Given the description of an element on the screen output the (x, y) to click on. 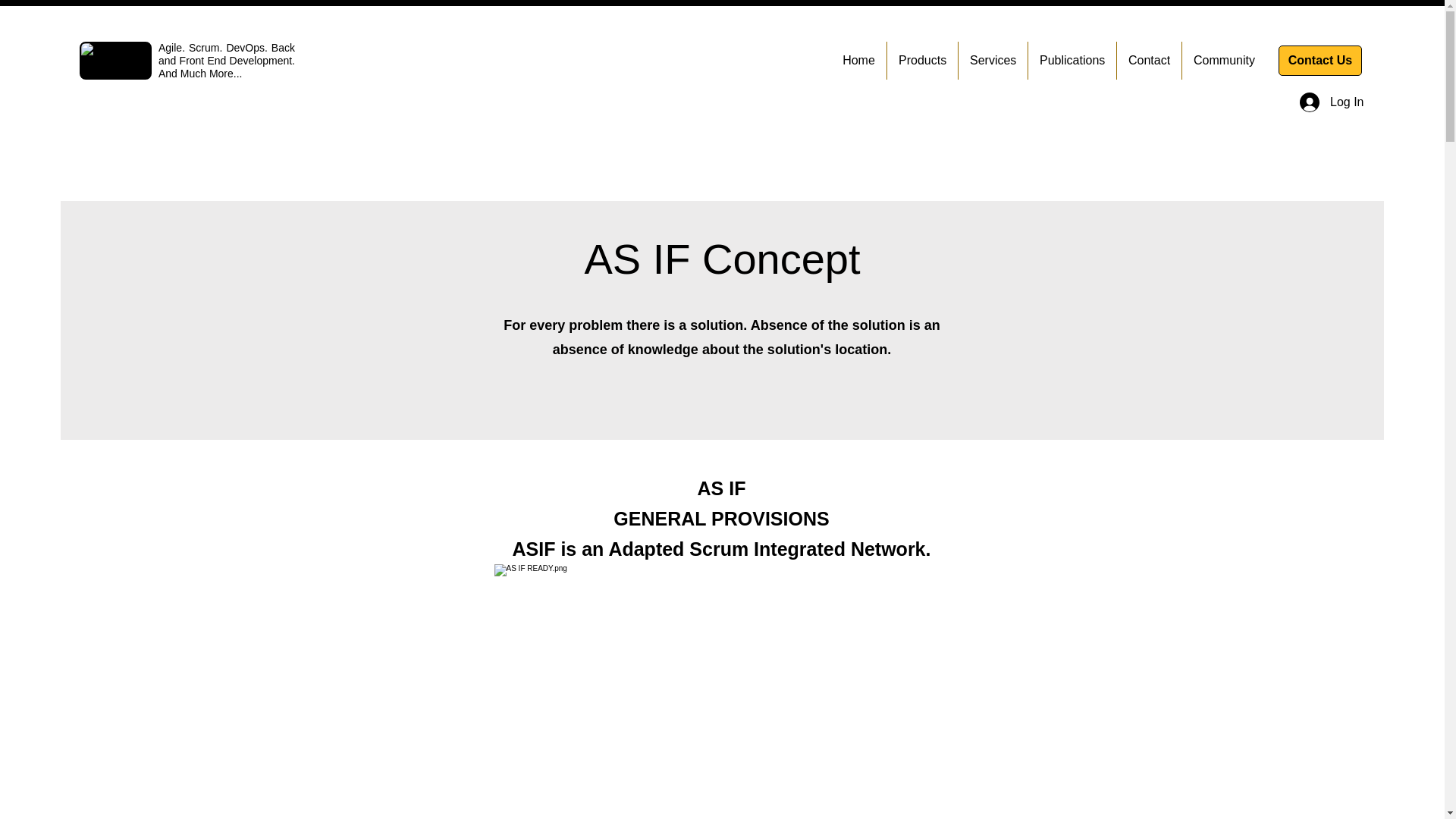
Products (922, 60)
Publications (1071, 60)
Home (858, 60)
Community (1224, 60)
Contact Us (1319, 60)
Contact (1148, 60)
Services (992, 60)
Log In (1324, 102)
